Given the description of an element on the screen output the (x, y) to click on. 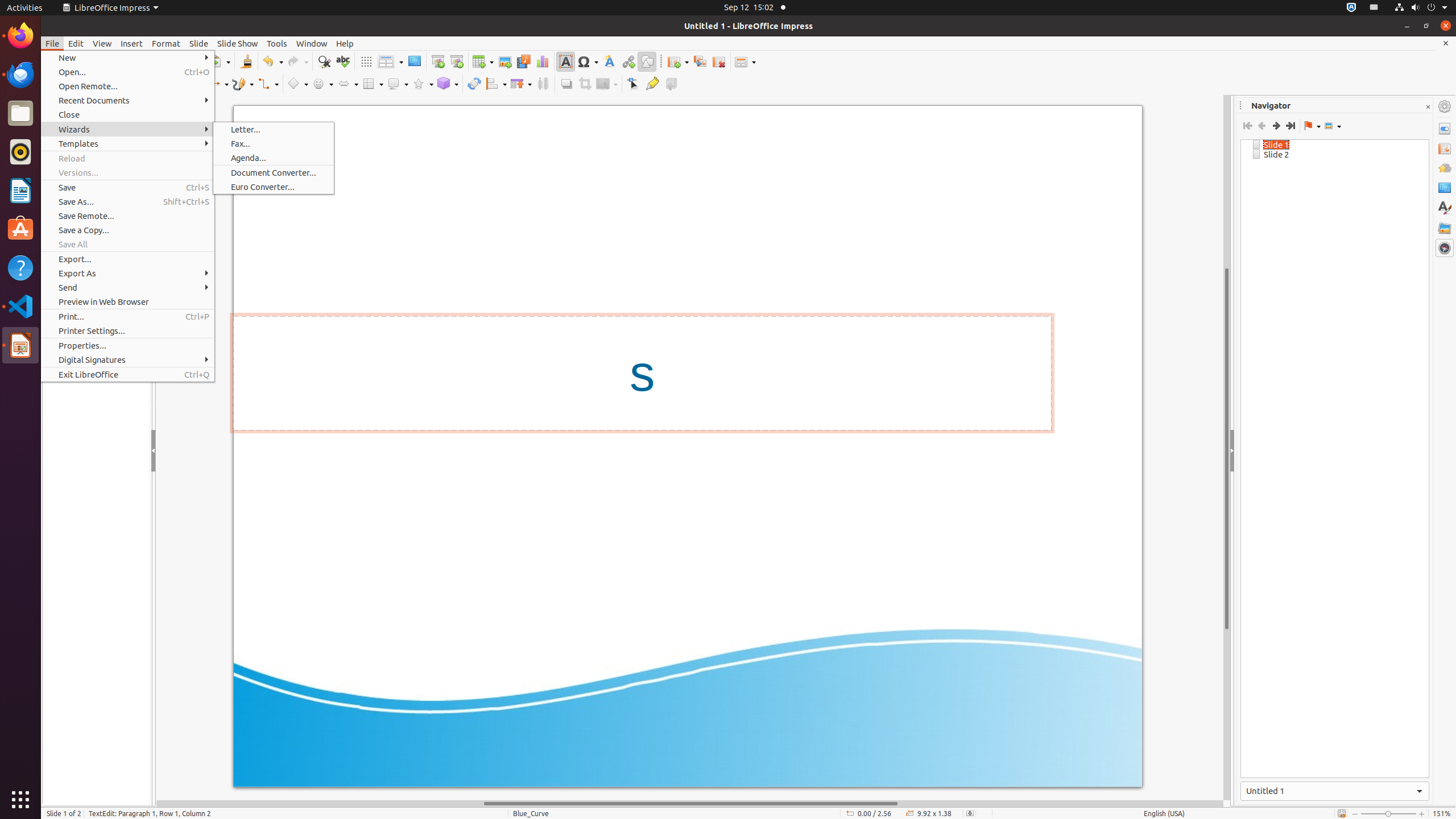
Document Converter... Element type: menu-item (273, 172)
Vertical scroll bar Element type: scroll-bar (1226, 447)
First Slide Element type: push-button (1247, 125)
Send Element type: menu (127, 287)
